Given the description of an element on the screen output the (x, y) to click on. 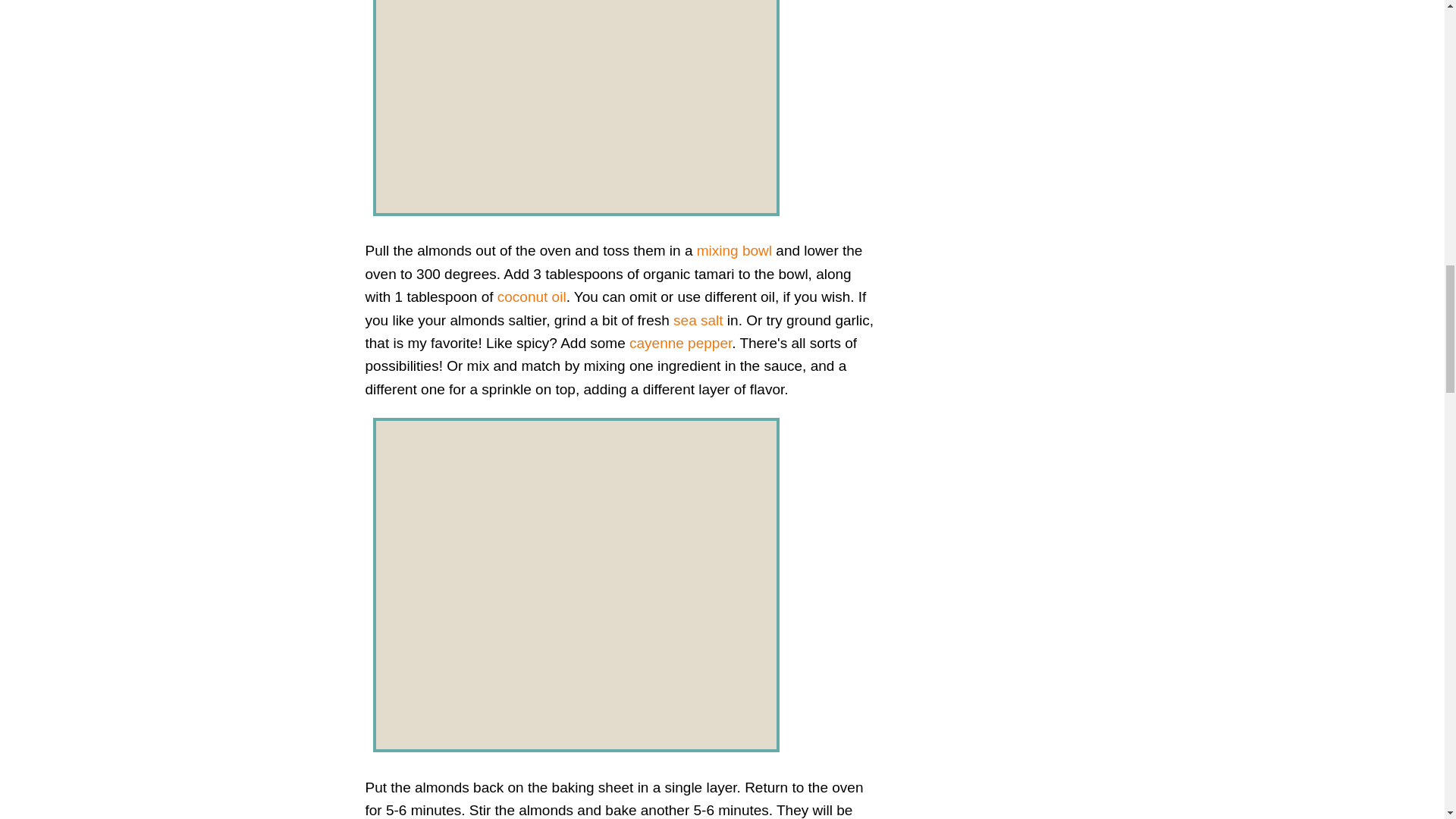
cayenne pepper (680, 342)
sea salt (697, 320)
mixing bowl (734, 250)
coconut oil (531, 296)
